Given the description of an element on the screen output the (x, y) to click on. 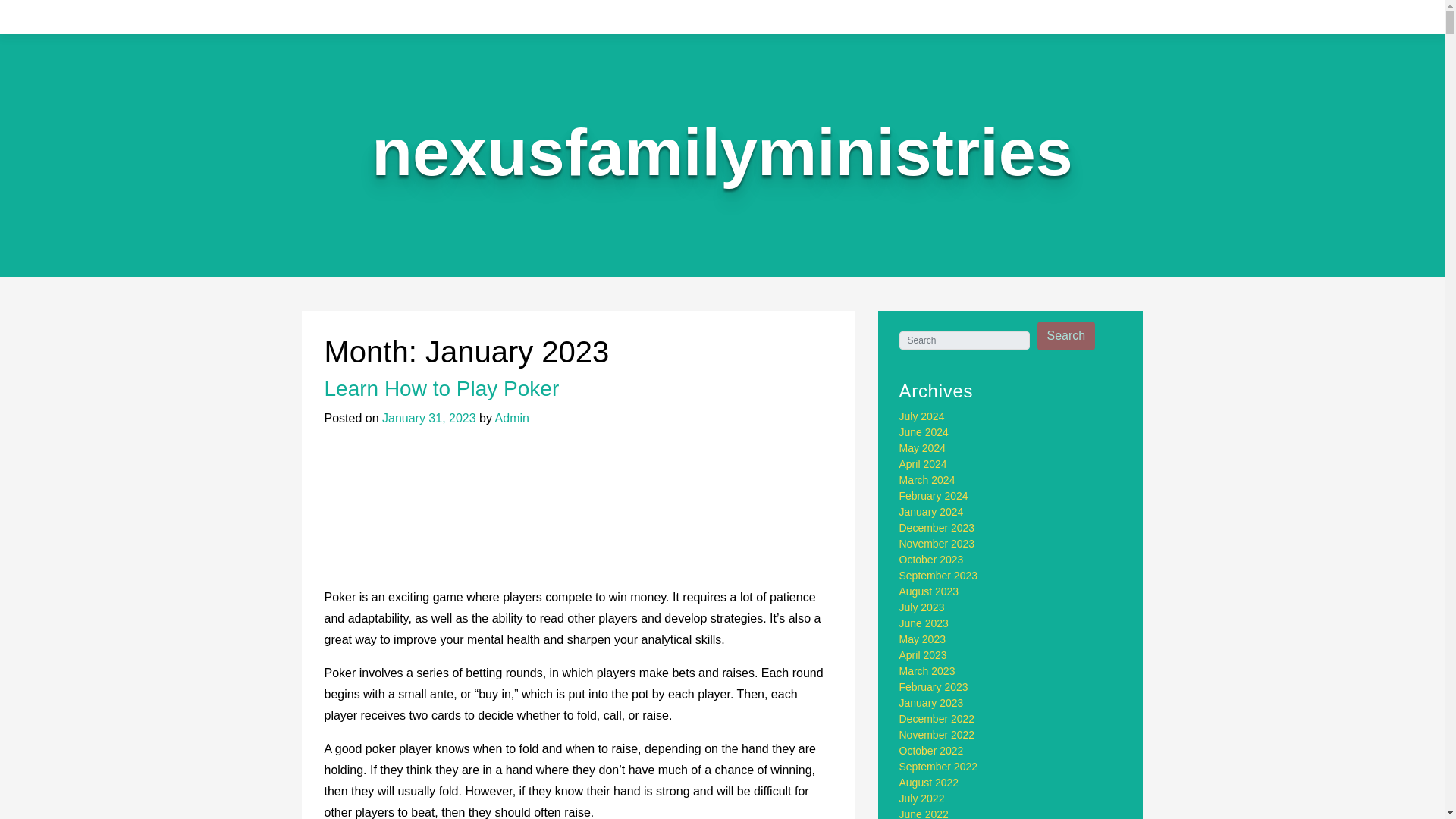
Admin (512, 418)
Learn How to Play Poker (441, 388)
January 31, 2023 (428, 418)
